Given the description of an element on the screen output the (x, y) to click on. 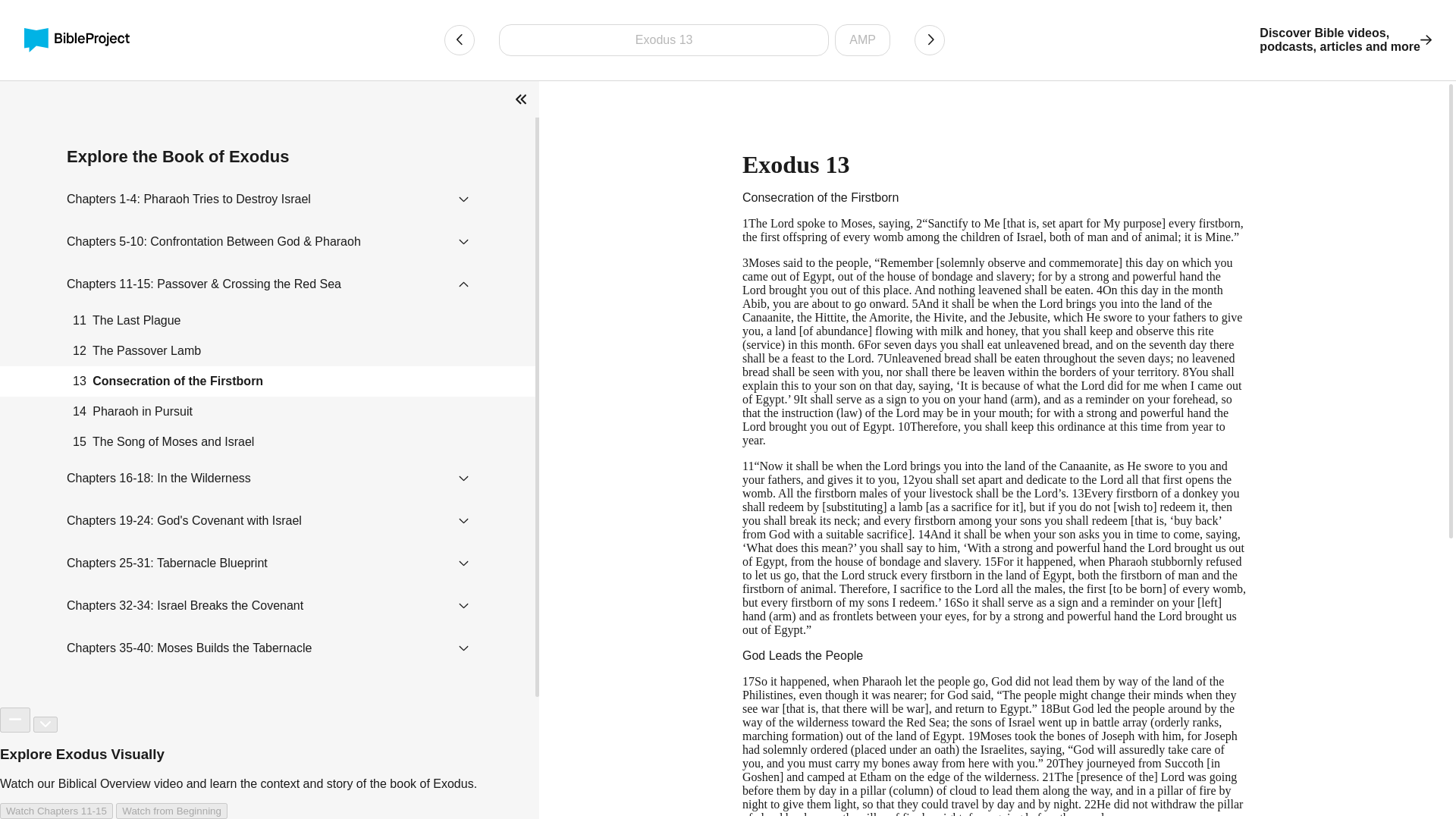
15 The Song of Moses and Israel (267, 441)
Exodus 14 (929, 40)
Chapters 25-31: Tabernacle Blueprint (166, 563)
12 The Passover Lamb (267, 350)
Chapters 16-18: In the Wilderness (158, 478)
11 The Last Plague (267, 320)
13 Consecration of the Firstborn (267, 381)
14 Pharaoh in Pursuit (1345, 40)
Chapters 19-24: God's Covenant with Israel (267, 411)
